Given the description of an element on the screen output the (x, y) to click on. 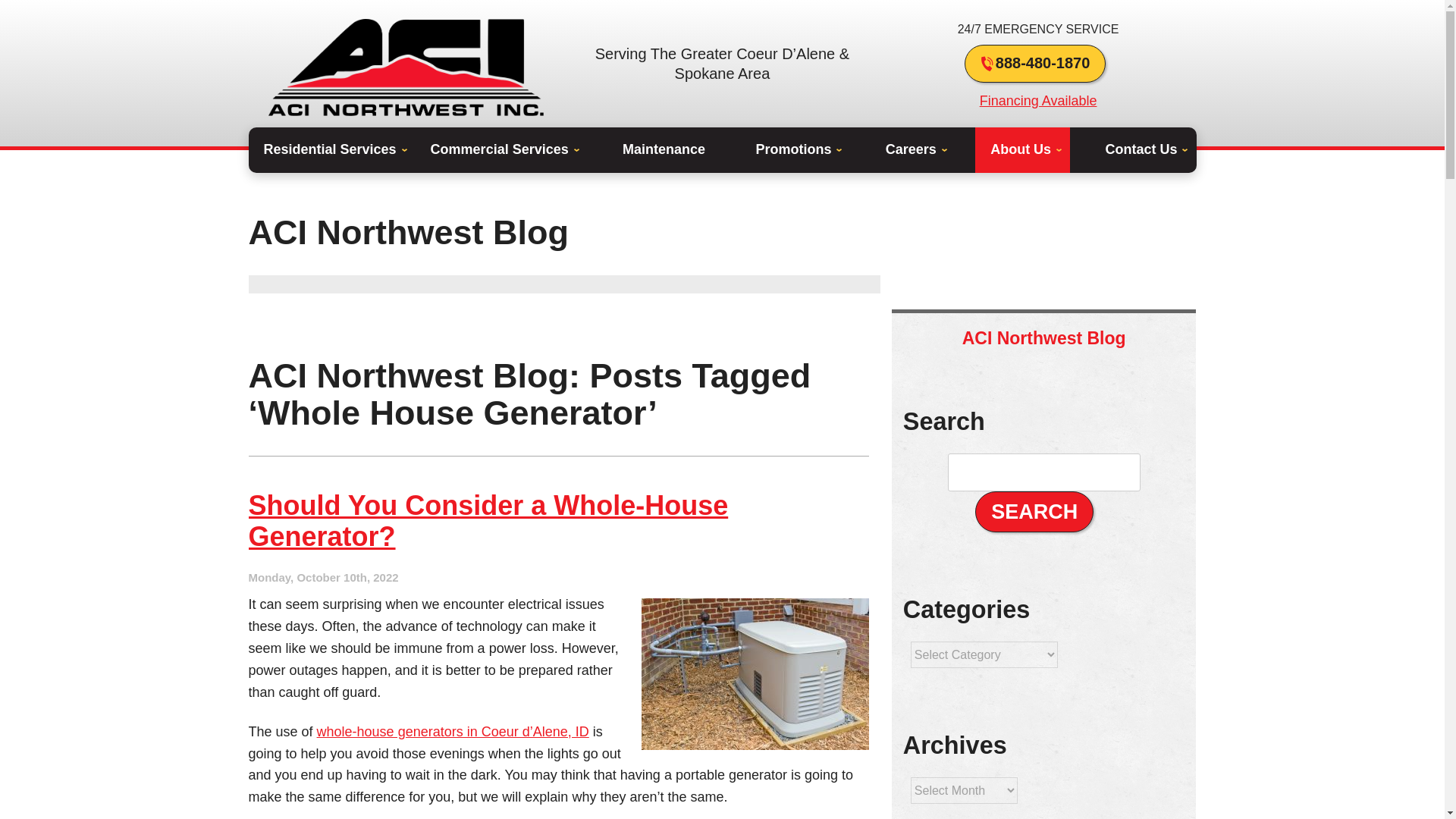
Residential Services (331, 149)
Financing Available (1038, 100)
888-480-1870 (1034, 63)
